Given the description of an element on the screen output the (x, y) to click on. 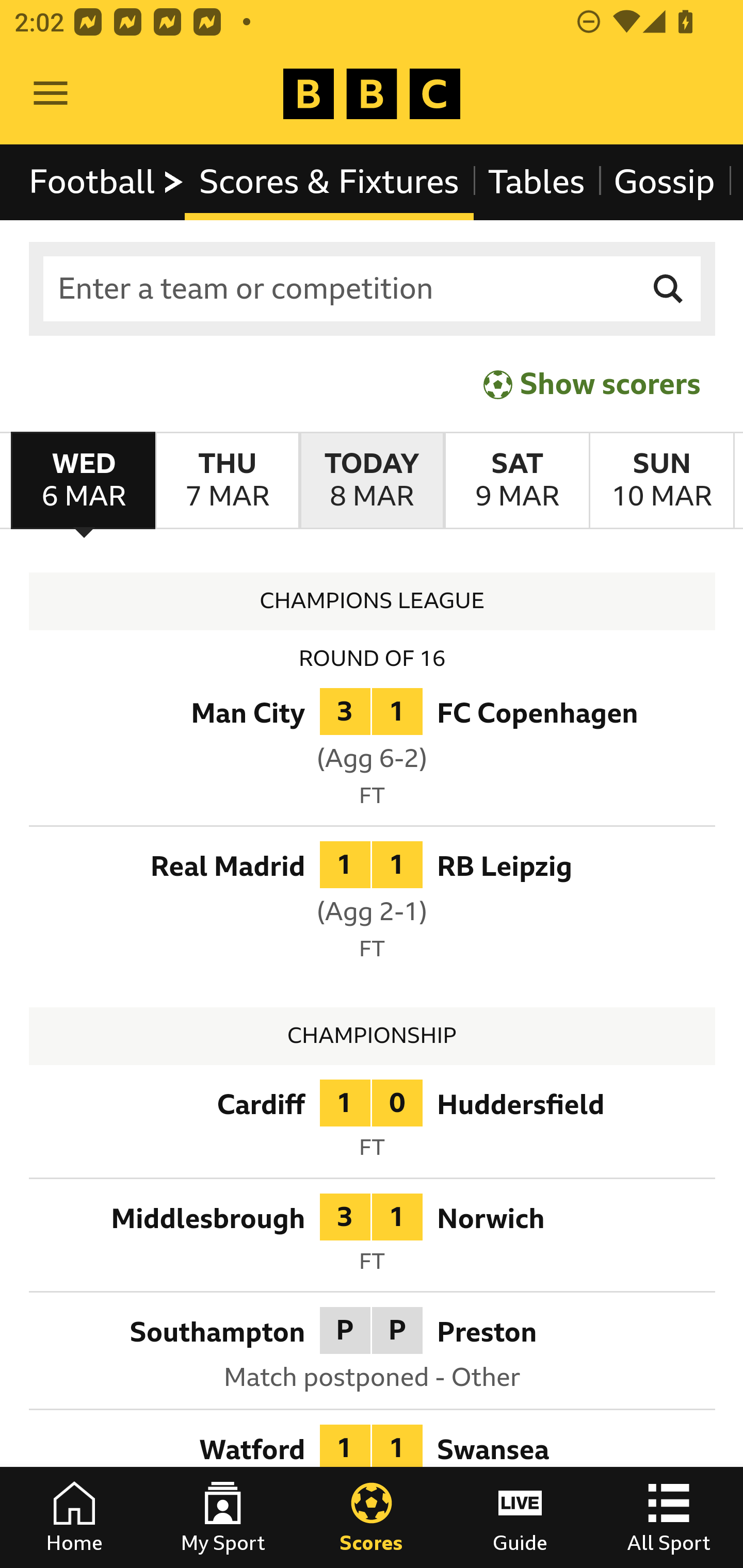
Open Menu (50, 93)
Football  (106, 181)
Scores & Fixtures (329, 181)
Tables (536, 181)
Gossip (664, 181)
Search (669, 289)
Show scorers (591, 383)
ThursdayMarch 7th Thursday March 7th (227, 480)
TodayMarch 8th Today March 8th (371, 480)
SaturdayMarch 9th Saturday March 9th (516, 480)
SundayMarch 10th Sunday March 10th (661, 480)
68420958 Middlesbrough 3 Norwich City 1 Full Time (372, 1238)
Home (74, 1517)
My Sport (222, 1517)
Guide (519, 1517)
All Sport (668, 1517)
